Given the description of an element on the screen output the (x, y) to click on. 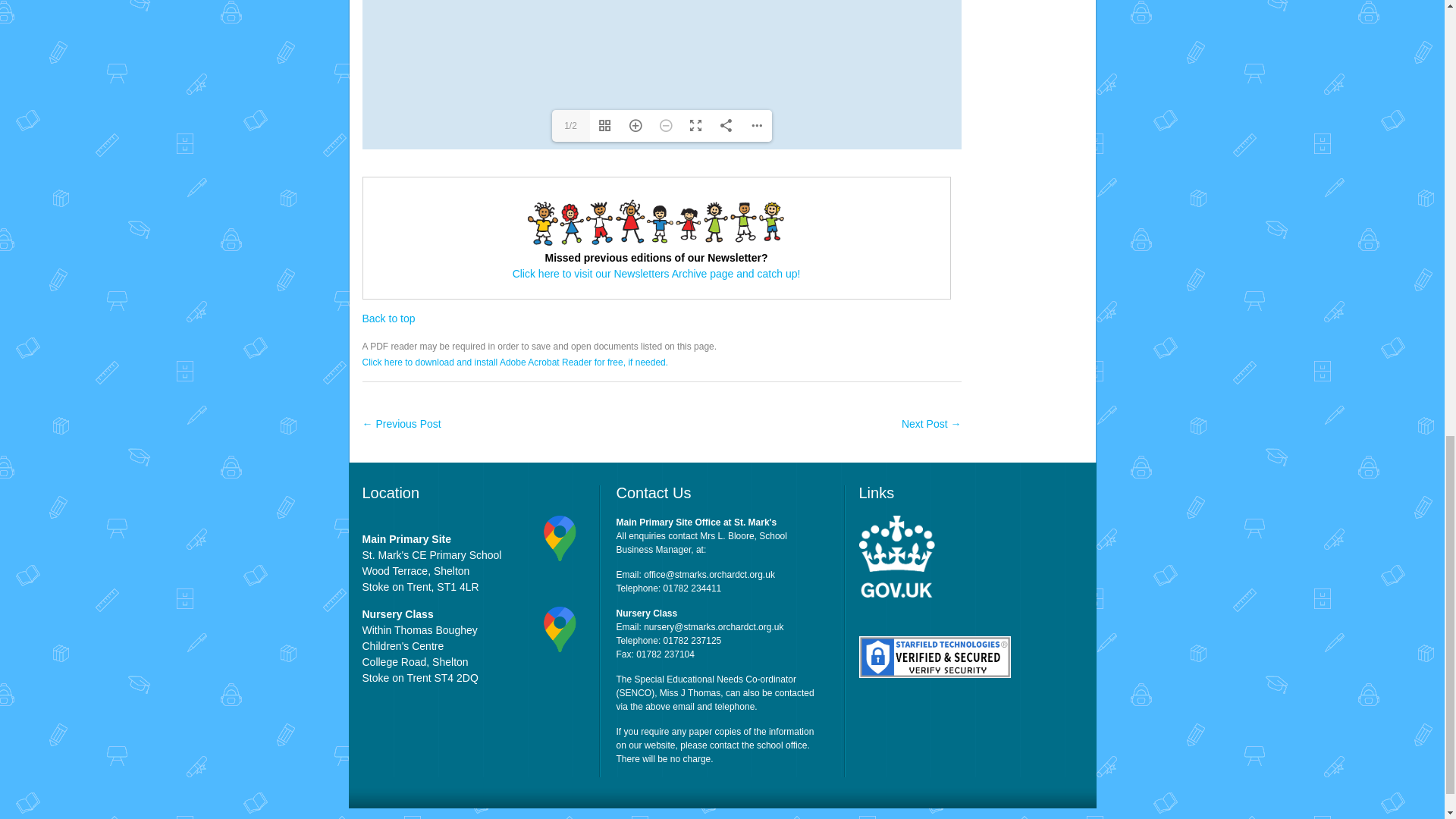
Share (726, 125)
Toggle Thumbnails (604, 125)
Zoom Out (665, 125)
Zoom In (635, 125)
Toggle Fullscreen (696, 125)
